Given the description of an element on the screen output the (x, y) to click on. 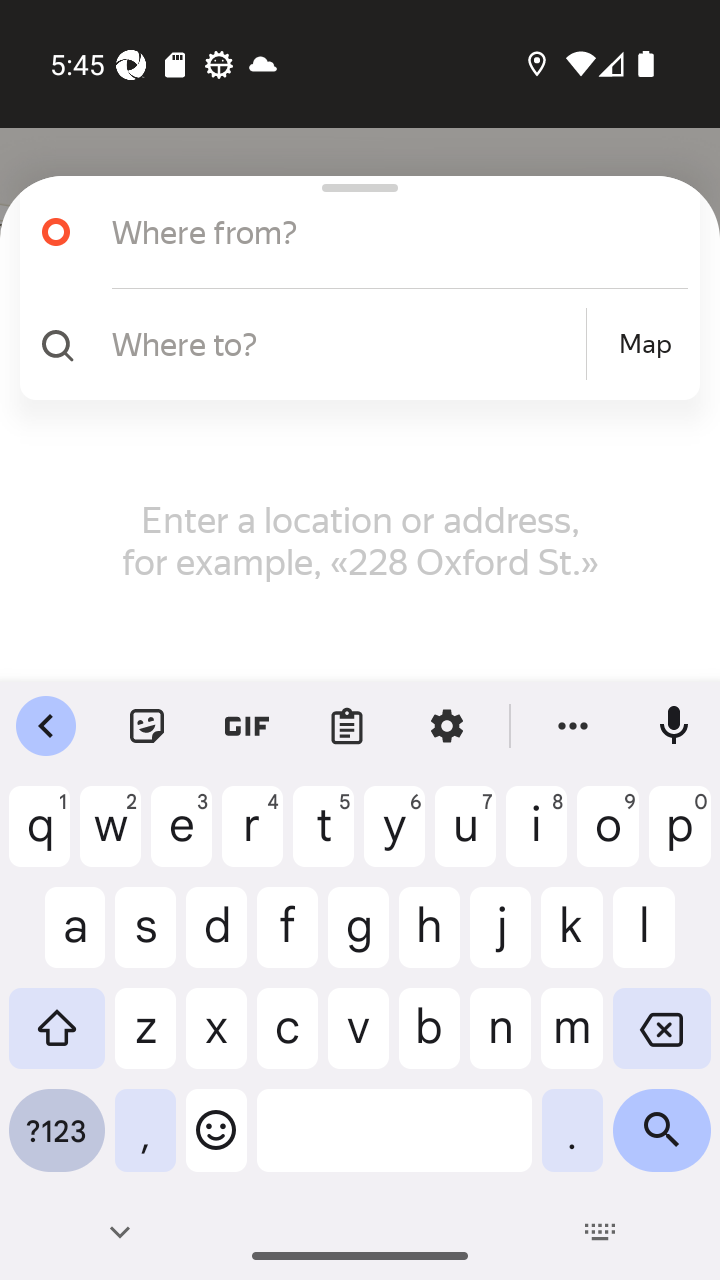
Where from? (352, 232)
Where from? (373, 232)
Where to? Map Map (352, 343)
Map (645, 343)
Where to? (346, 343)
